Given the description of an element on the screen output the (x, y) to click on. 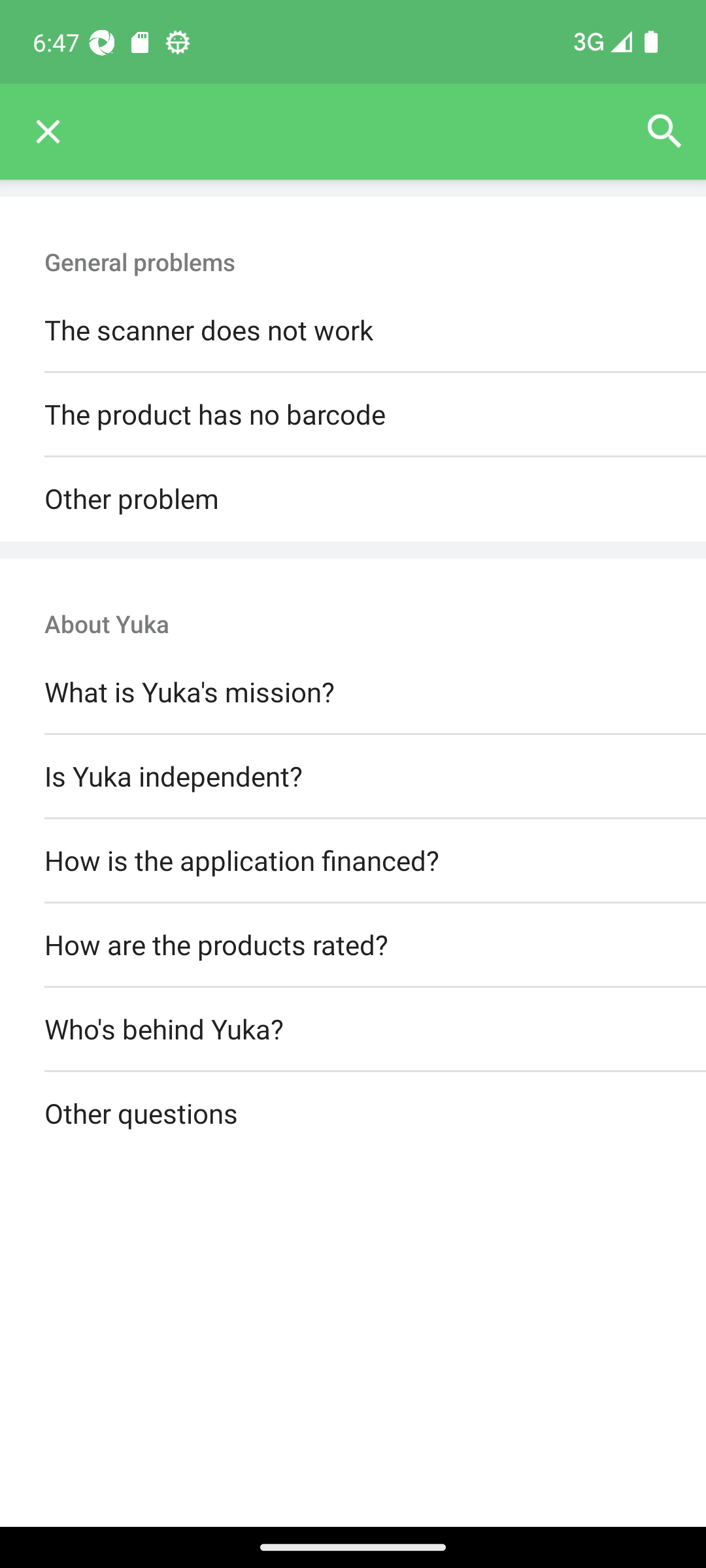
Search (664, 131)
The scanner does not work (353, 330)
The product has no barcode (353, 415)
Other problem (353, 498)
What is Yuka's mission? (353, 692)
Is Yuka independent? (353, 776)
How is the application financed? (353, 860)
How are the products rated? (353, 945)
Who's behind Yuka? (353, 1029)
Other questions (353, 1114)
